Given the description of an element on the screen output the (x, y) to click on. 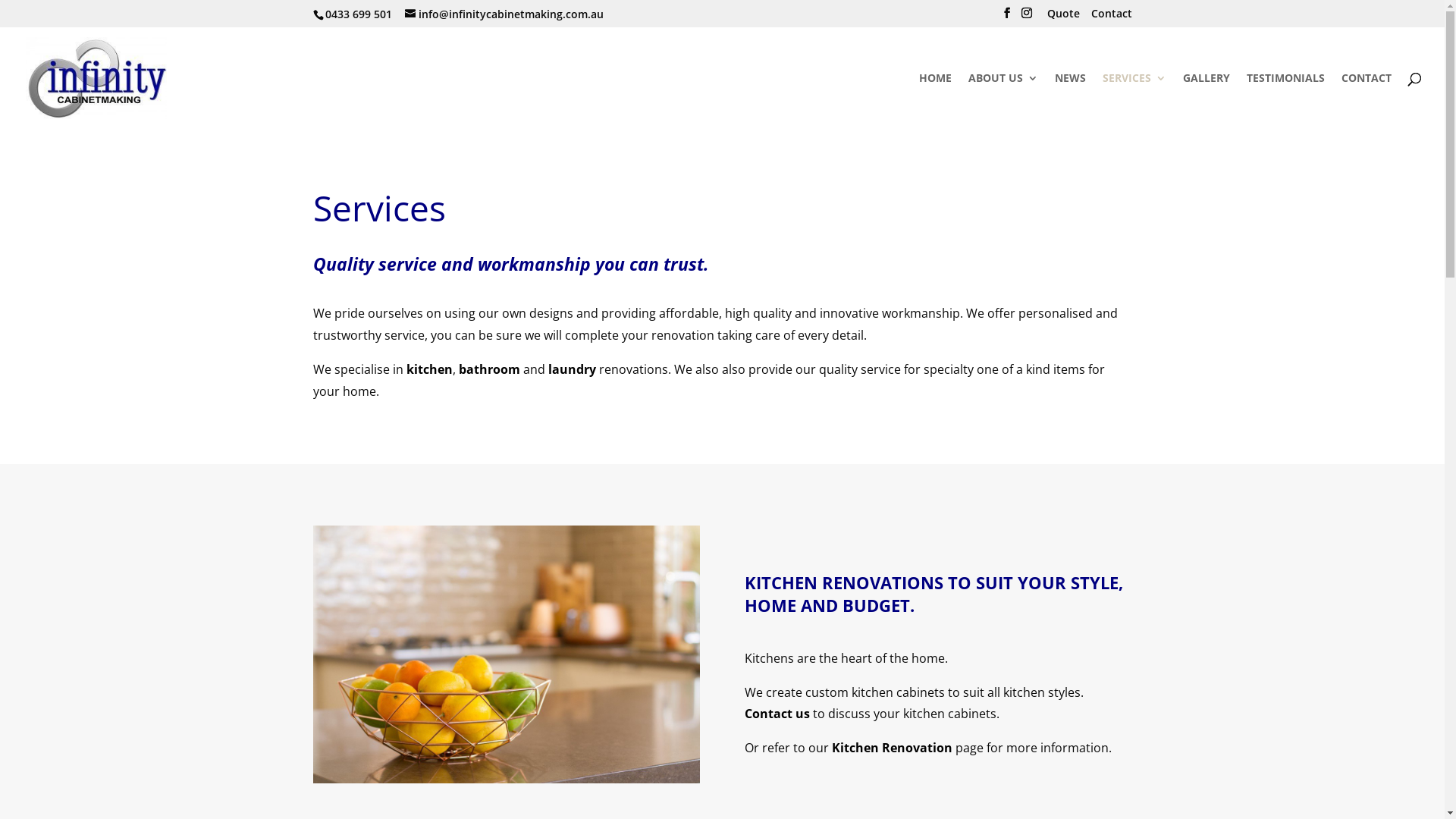
Contact us Element type: text (776, 713)
laundry Element type: text (571, 368)
SERVICES Element type: text (1134, 100)
0433 699 501 Element type: text (356, 13)
Contact Element type: text (1110, 16)
HOME Element type: text (935, 100)
Quote Element type: text (1062, 16)
Kitchen Renovation Element type: text (891, 747)
TESTIMONIALS Element type: text (1285, 100)
bathroom Element type: text (488, 368)
ABOUT US Element type: text (1003, 100)
kitchen Element type: text (429, 368)
CONTACT Element type: text (1366, 100)
NEWS Element type: text (1069, 100)
info@infinitycabinetmaking.com.au Element type: text (503, 13)
GALLERY Element type: text (1206, 100)
